Given the description of an element on the screen output the (x, y) to click on. 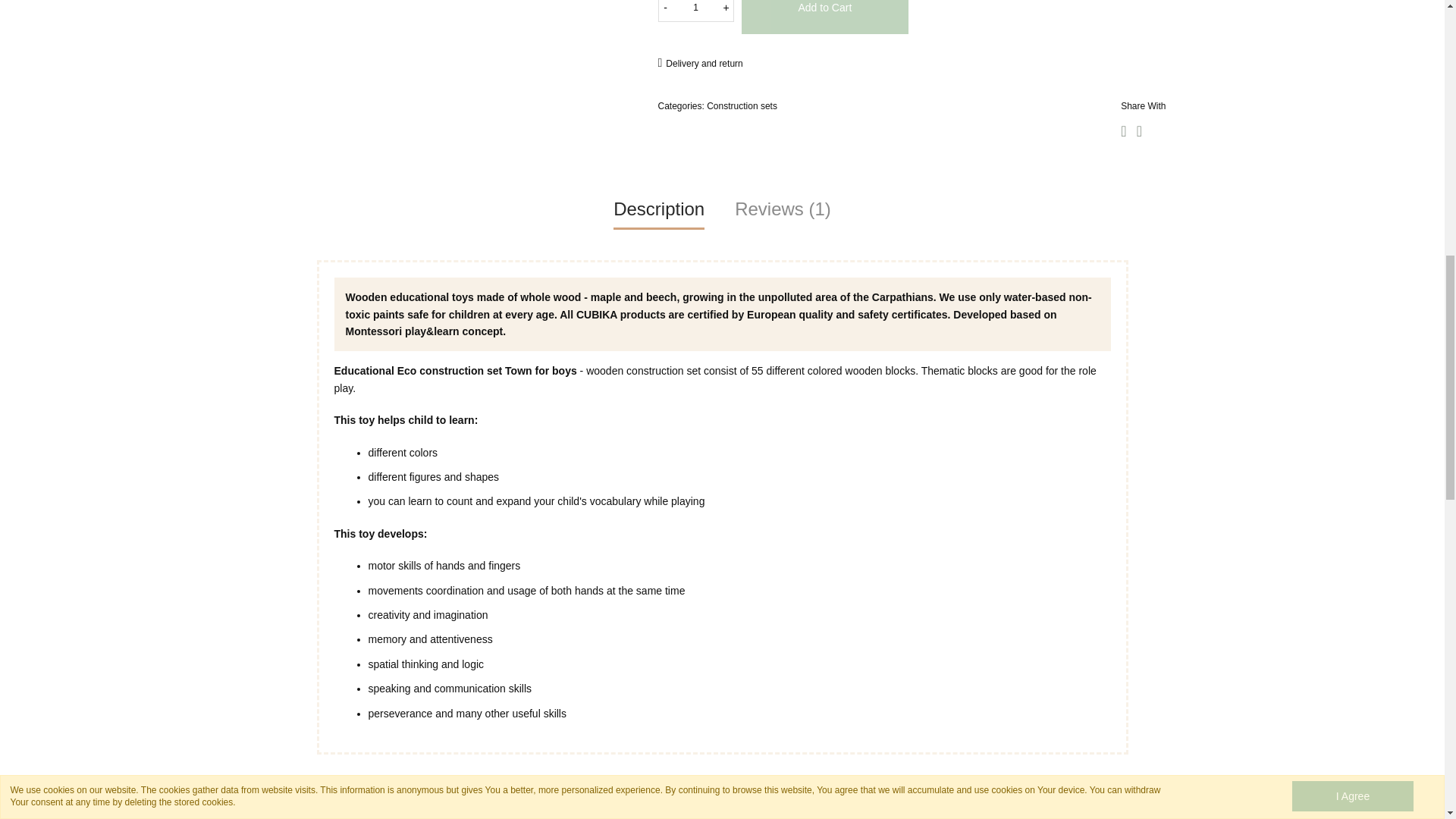
1 (695, 11)
Add to Cart (824, 17)
